Given the description of an element on the screen output the (x, y) to click on. 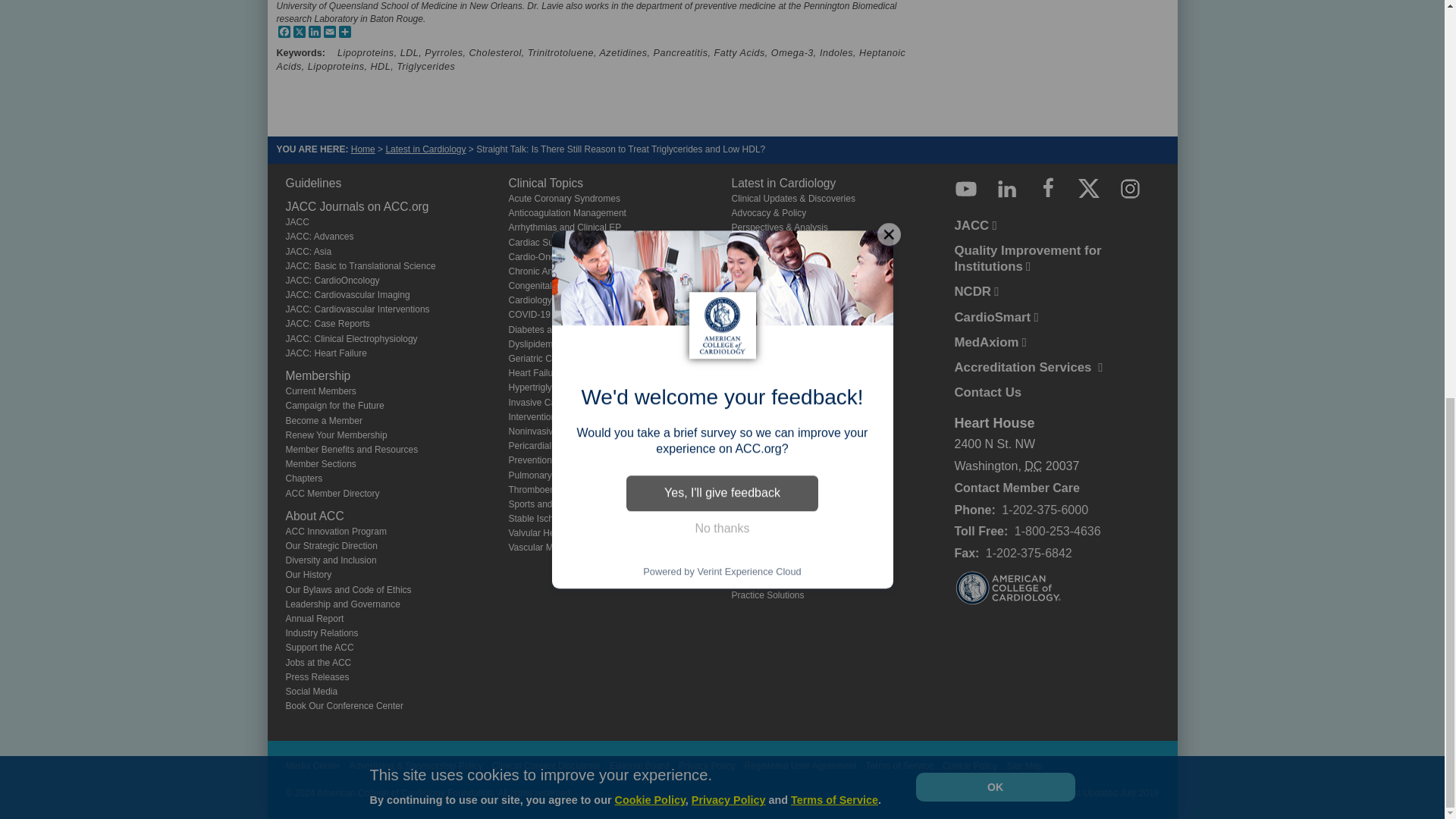
Guidelines (312, 182)
JACC: Cardiovascular Interventions (357, 308)
JACC: Cardiovascular Imaging (347, 294)
JACC Asia (308, 251)
JACC: Advances (319, 235)
